Given the description of an element on the screen output the (x, y) to click on. 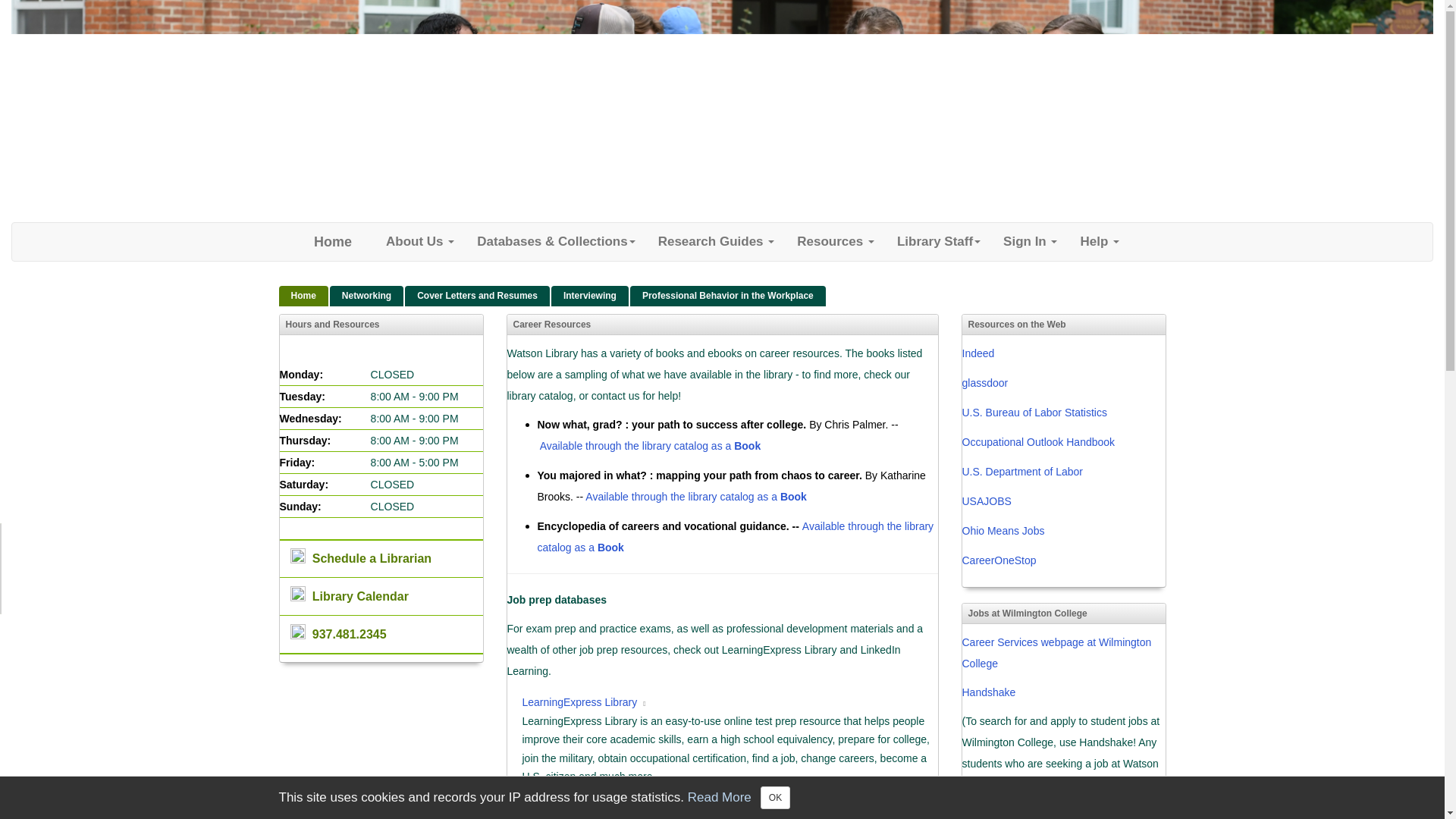
Read More (719, 797)
This link opens in a new window (644, 704)
About Us (419, 241)
Research Guides (716, 241)
Home (332, 241)
OK (775, 797)
